Given the description of an element on the screen output the (x, y) to click on. 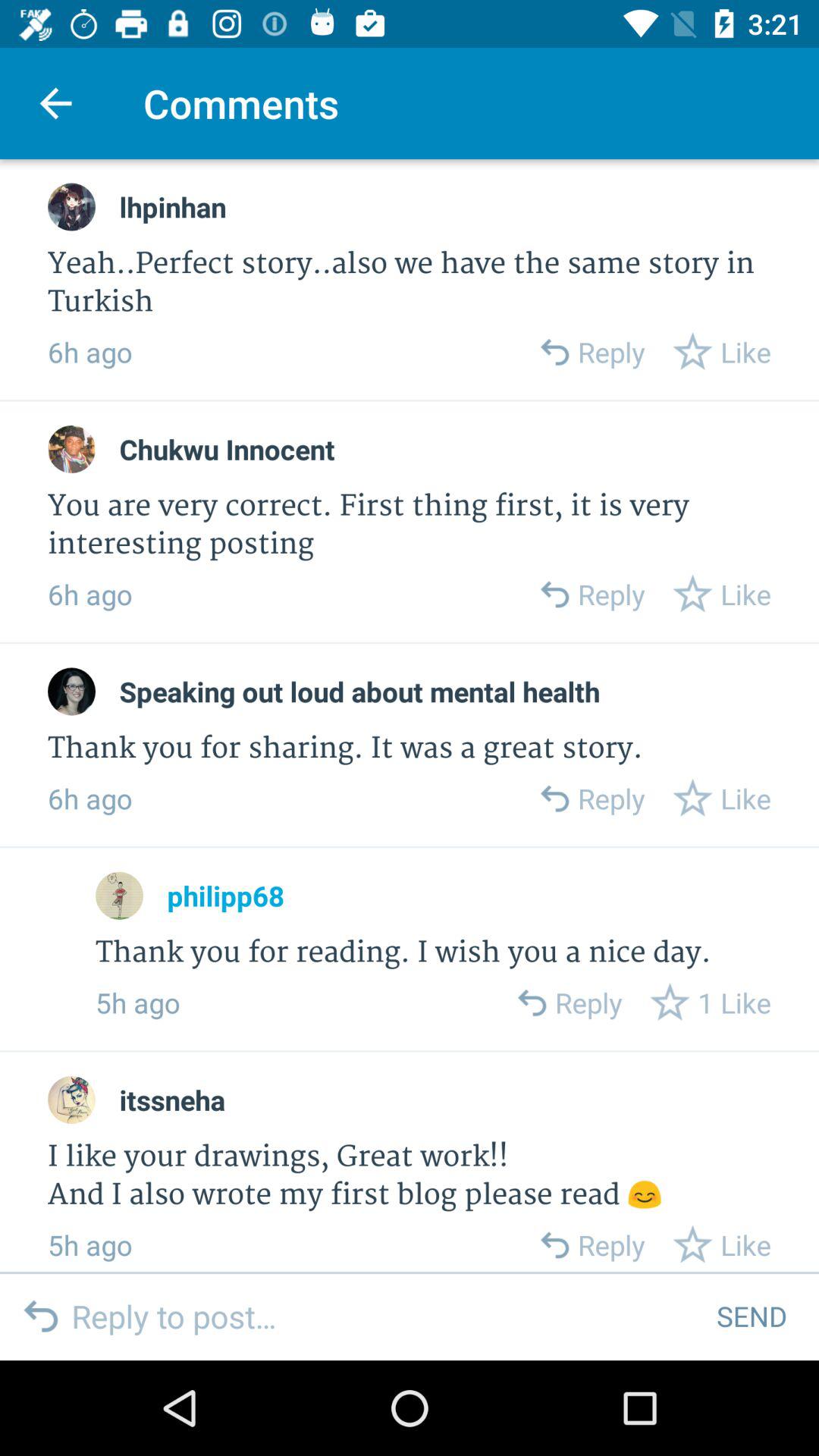
view other users profile (71, 206)
